Given the description of an element on the screen output the (x, y) to click on. 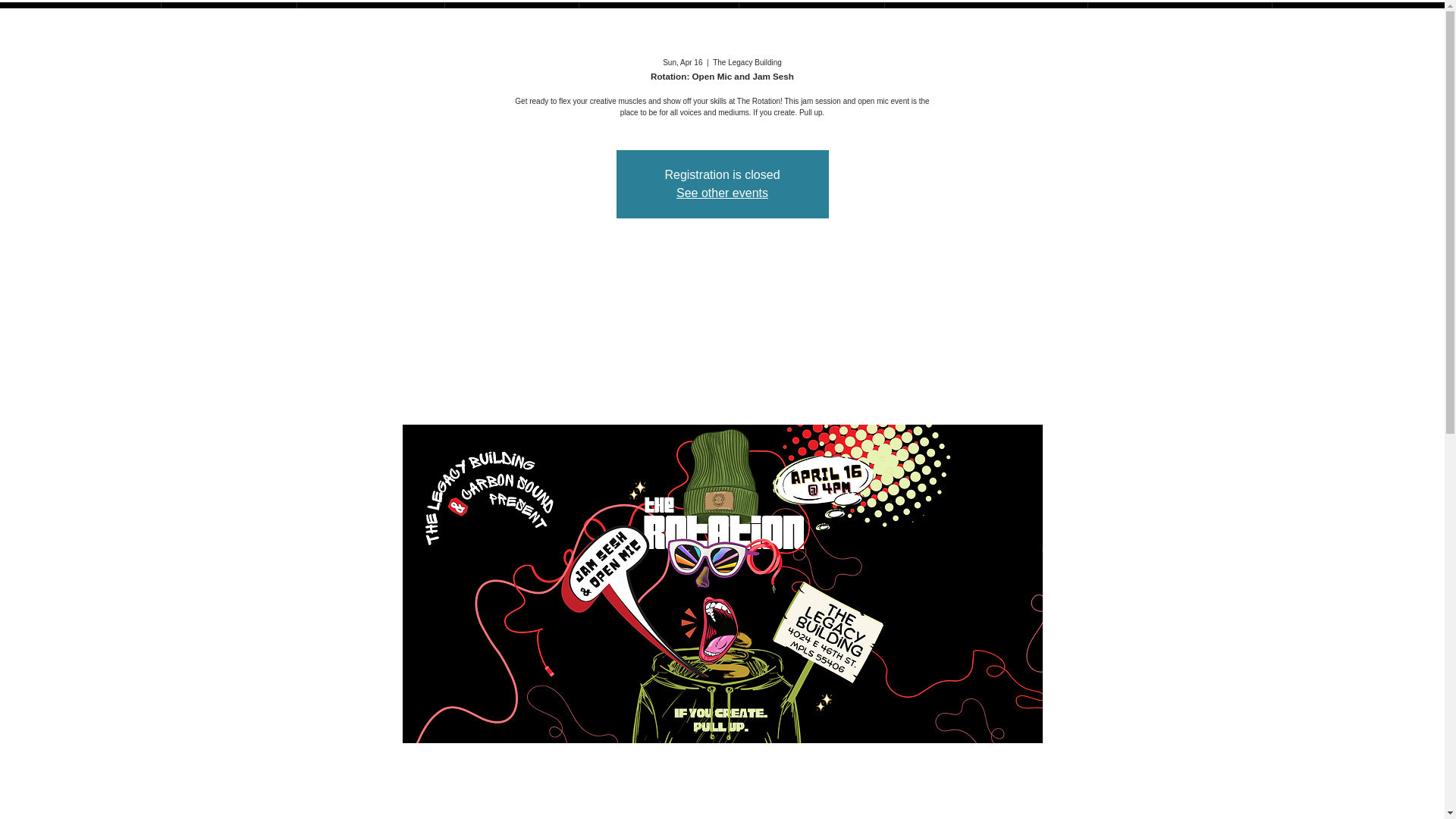
See other events (722, 192)
GET IN TOUCH (1179, 17)
RENT THE LEGACY (985, 17)
SOTS (511, 17)
VISUALS (370, 17)
EVENTS (810, 17)
AMENITIES (658, 17)
COZY (228, 17)
WELCOME (80, 17)
